Given the description of an element on the screen output the (x, y) to click on. 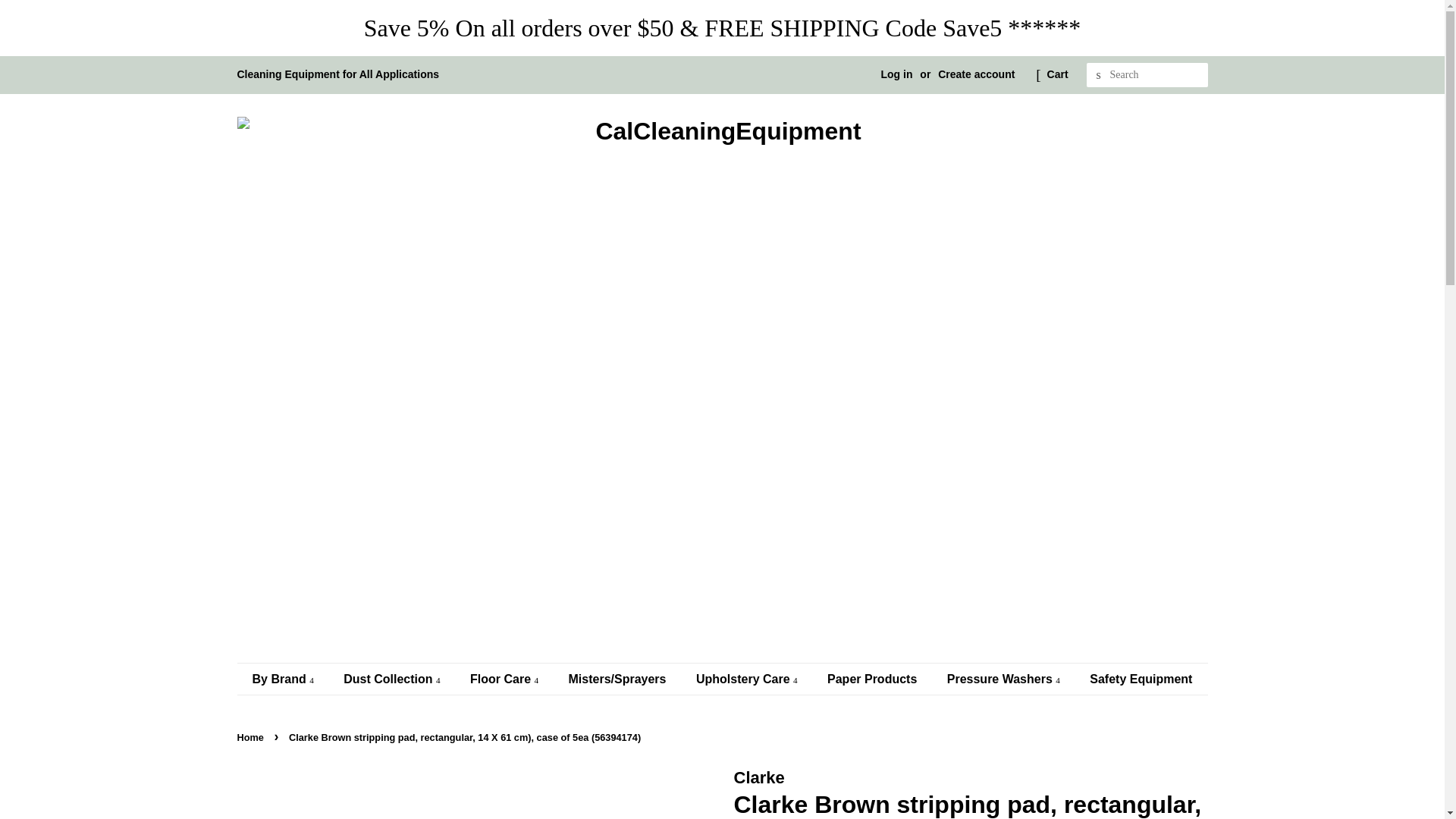
Cart (1057, 75)
Search (1097, 75)
Log in (896, 73)
Create account (975, 73)
Back to the frontpage (250, 737)
Cleaning Equipment for All Applications (337, 73)
